Given the description of an element on the screen output the (x, y) to click on. 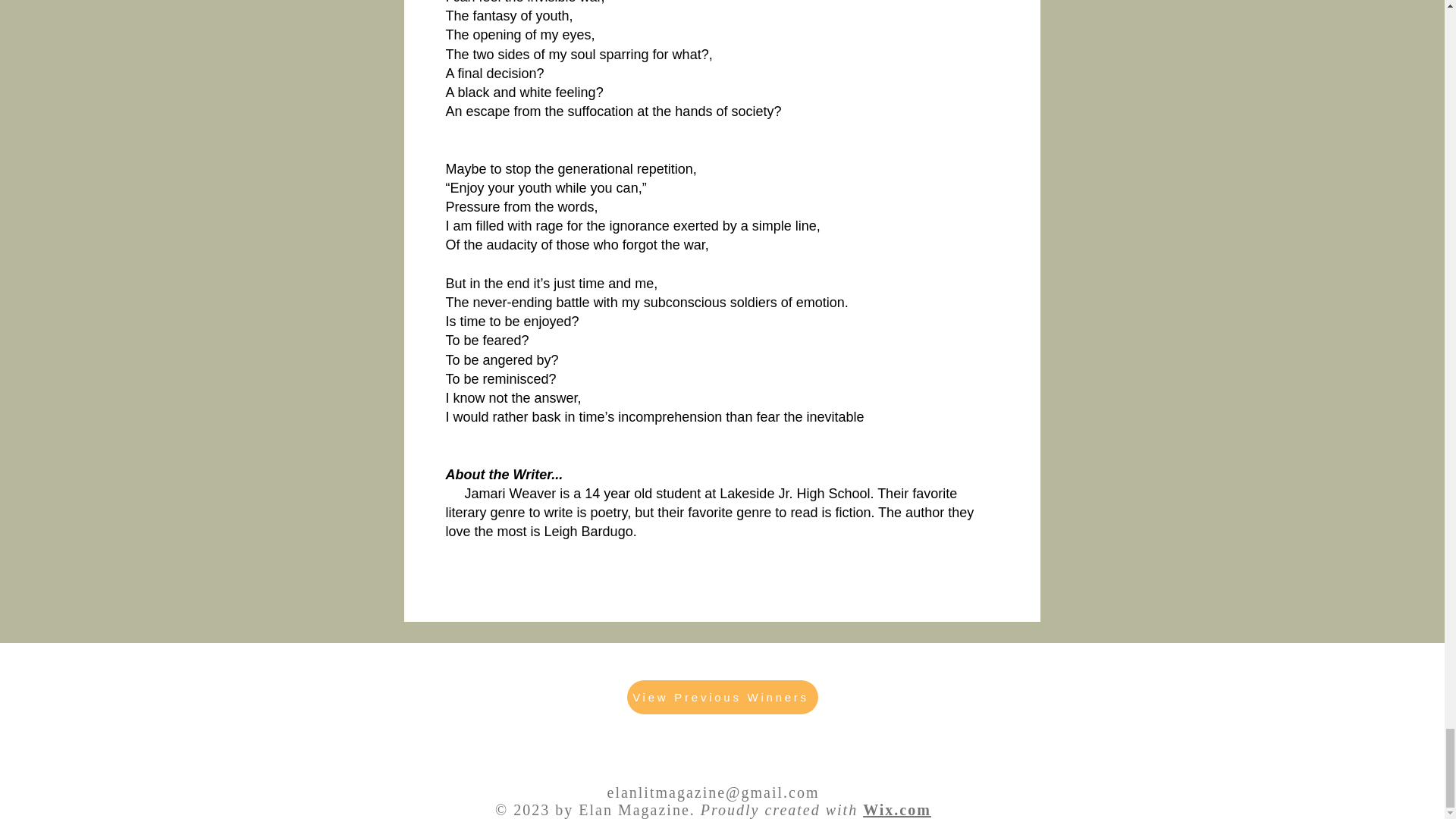
Wix.com (897, 809)
View Previous Winners (721, 697)
